Given the description of an element on the screen output the (x, y) to click on. 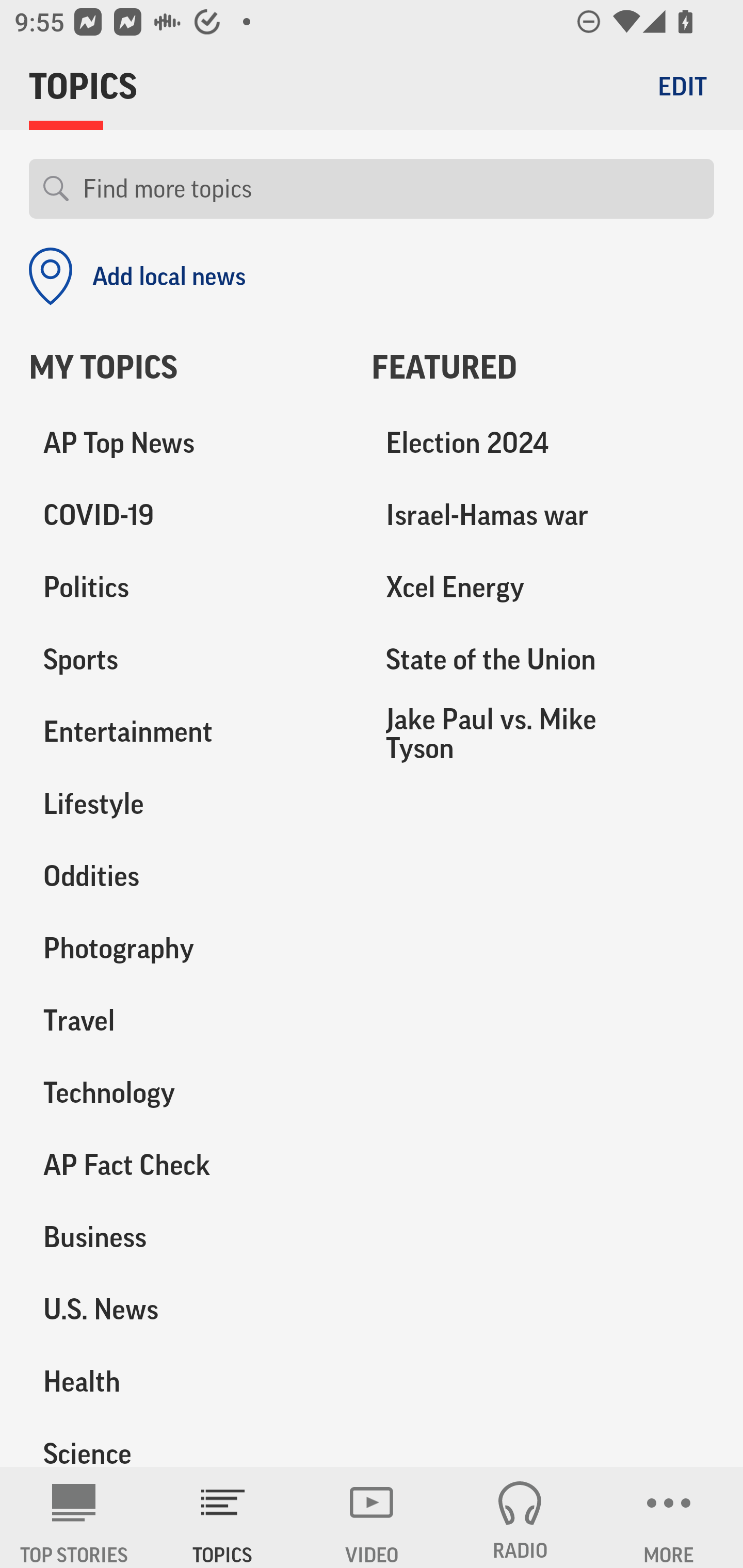
EDIT (682, 86)
Find more topics (391, 188)
Add local news (137, 276)
AP Top News (185, 443)
Election 2024 (542, 443)
COVID-19 (185, 515)
Israel-Hamas war (542, 515)
Politics (185, 587)
Xcel Energy (542, 587)
Sports (185, 660)
State of the Union (542, 660)
Entertainment (185, 732)
Jake Paul vs. Mike Tyson (542, 733)
Lifestyle (185, 804)
Oddities (185, 876)
Photography (185, 948)
Travel (185, 1020)
Technology (185, 1092)
AP Fact Check (185, 1164)
Business (185, 1237)
U.S. News (185, 1309)
Health (185, 1381)
Science (185, 1442)
AP News TOP STORIES (74, 1517)
TOPICS (222, 1517)
VIDEO (371, 1517)
RADIO (519, 1517)
MORE (668, 1517)
